Given the description of an element on the screen output the (x, y) to click on. 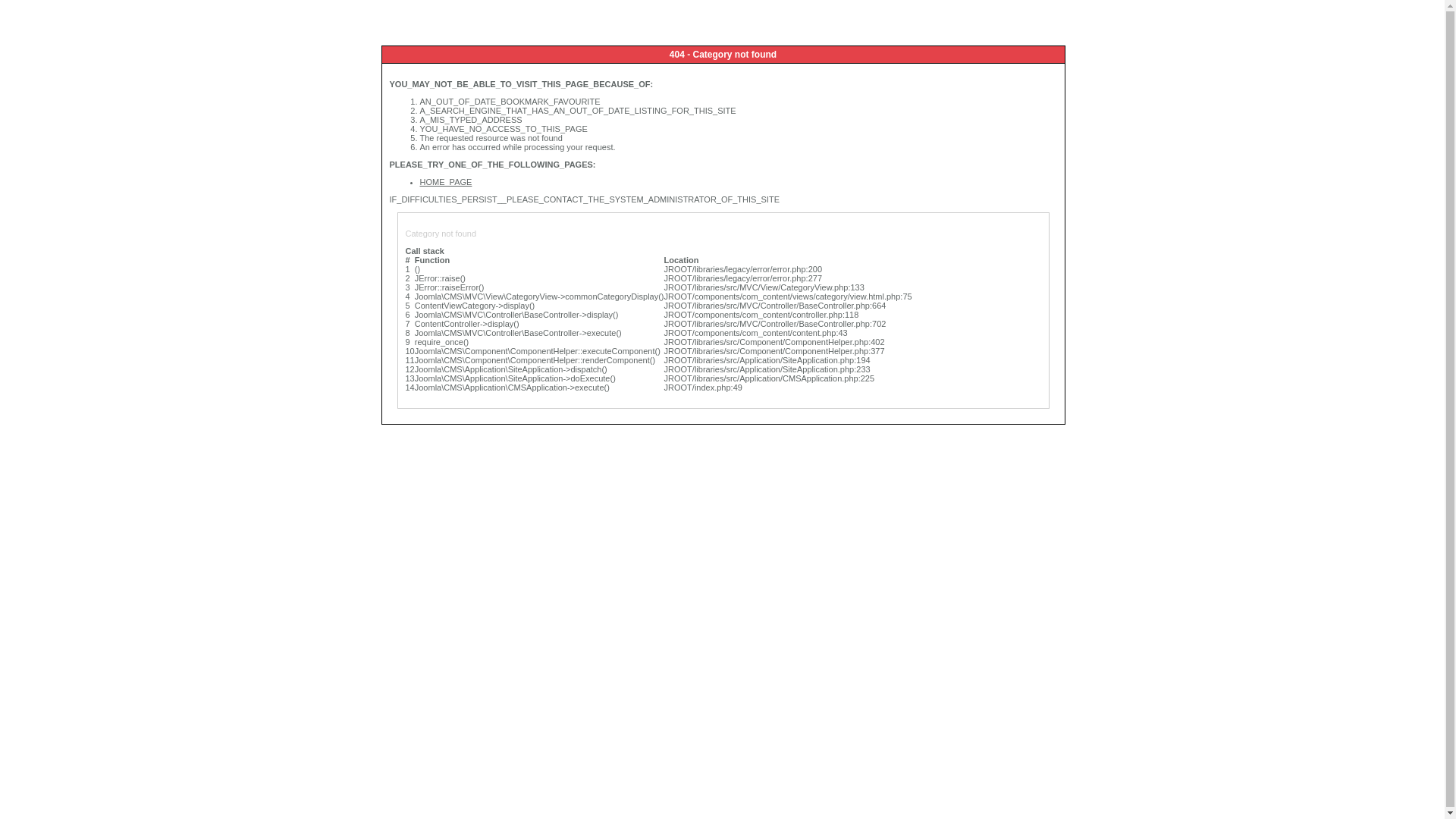
HOME_PAGE Element type: text (446, 181)
